Given the description of an element on the screen output the (x, y) to click on. 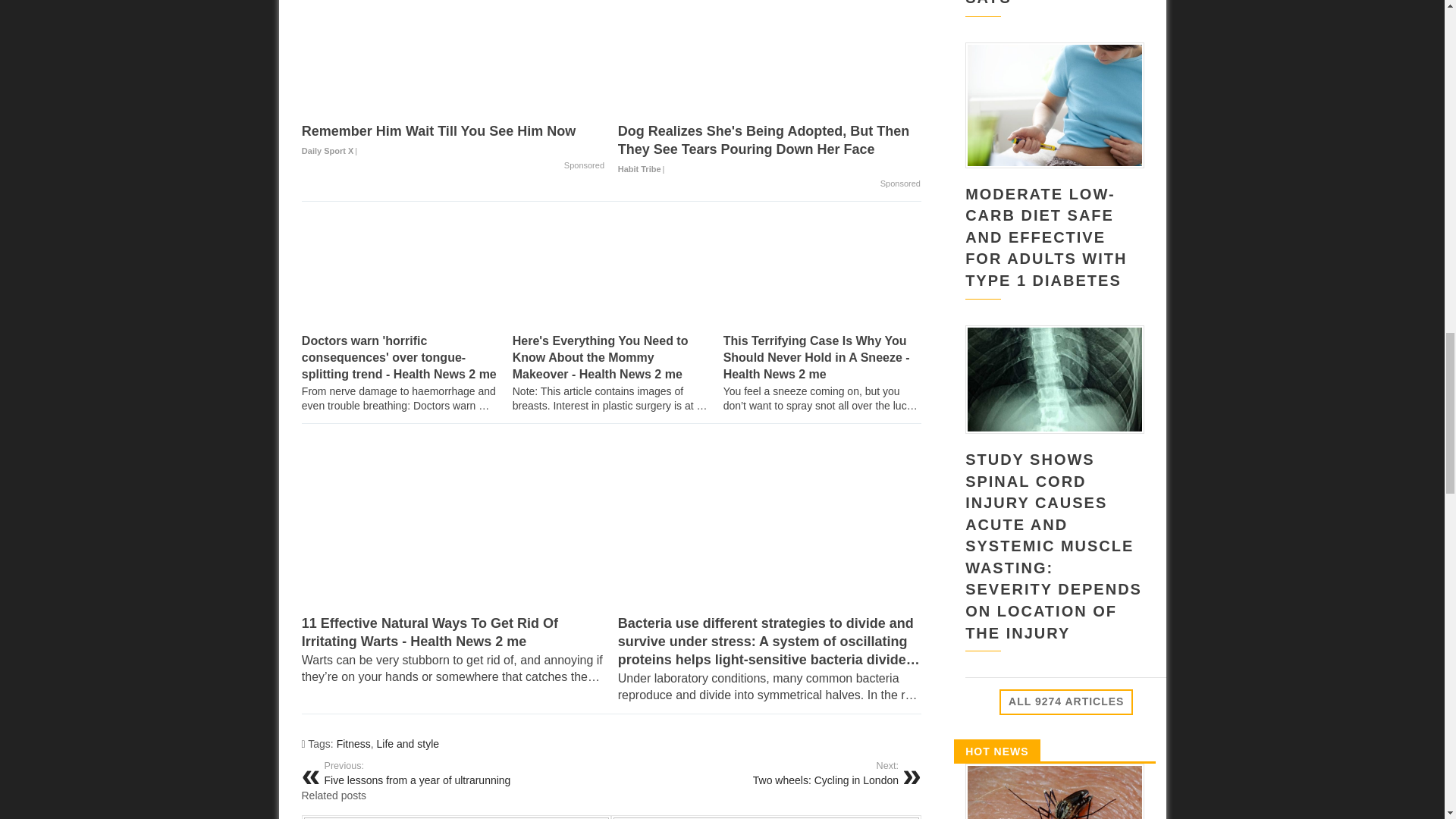
Sponsored (584, 165)
Sponsored (900, 184)
